Given the description of an element on the screen output the (x, y) to click on. 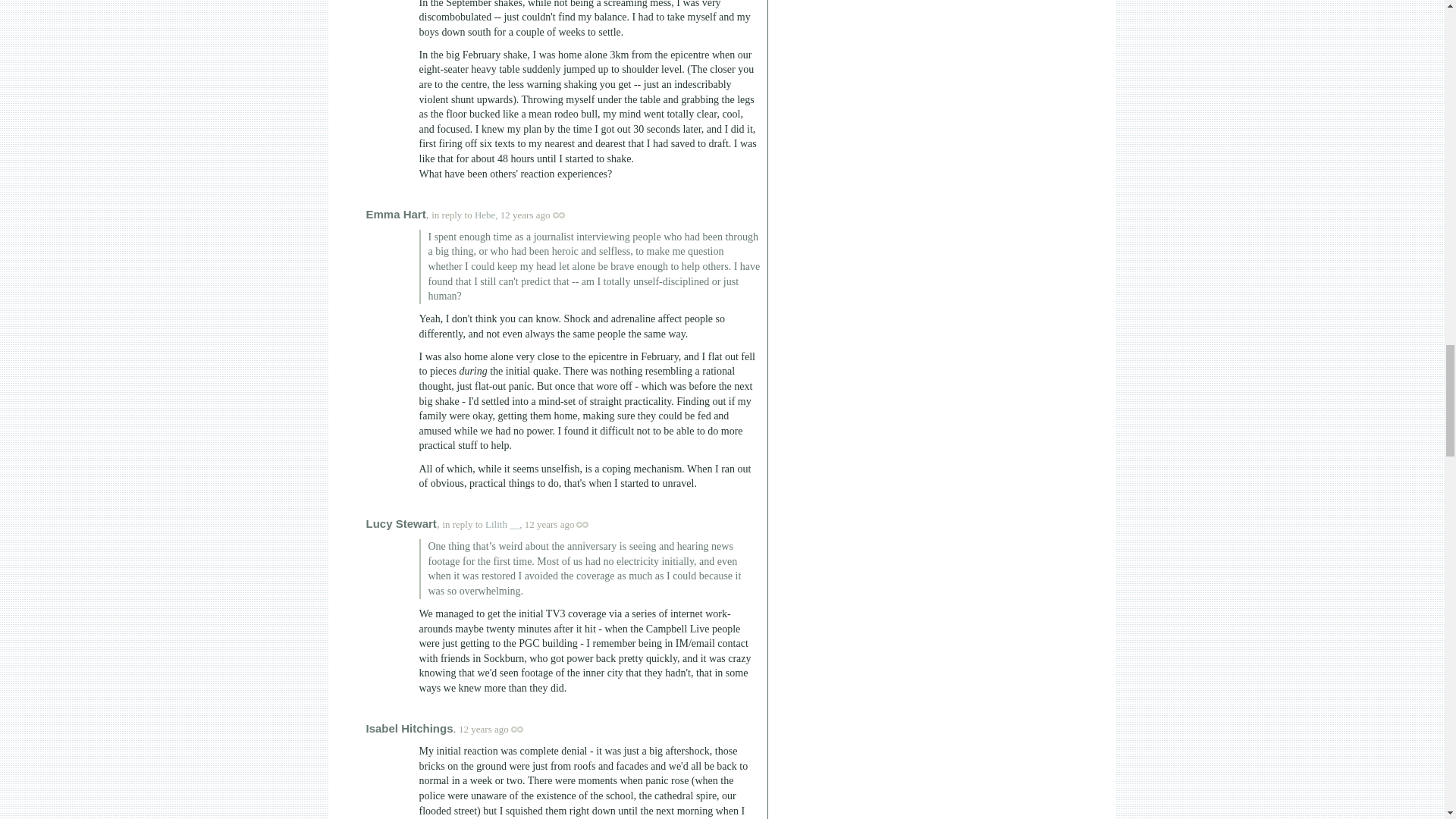
13:53 Feb 23, 2012 (549, 523)
13:05 Feb 23, 2012 (525, 214)
13:56 Feb 23, 2012 (483, 728)
